Given the description of an element on the screen output the (x, y) to click on. 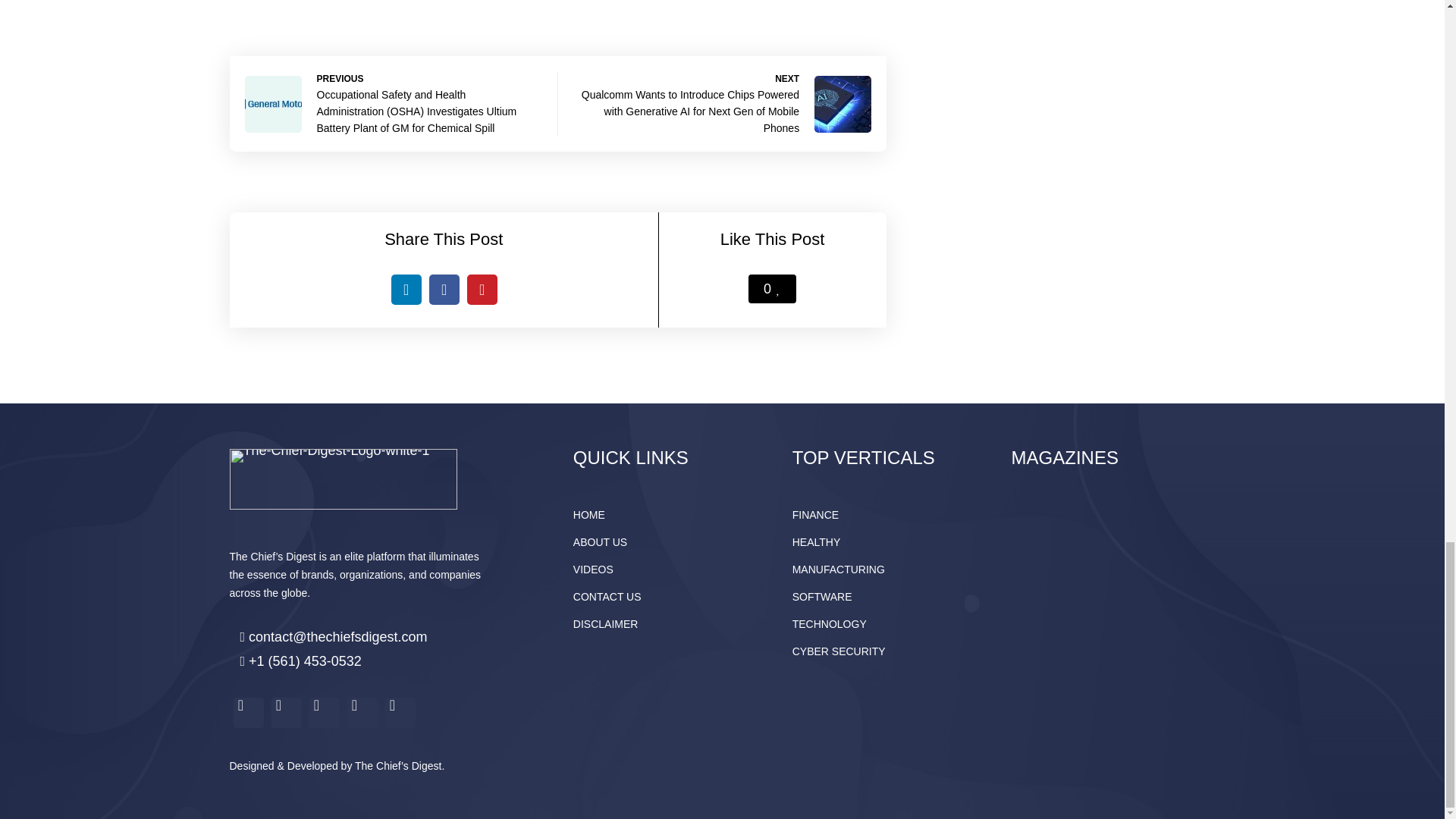
LinkedIn (406, 289)
Facebook (444, 289)
Pinterest (482, 289)
